Given the description of an element on the screen output the (x, y) to click on. 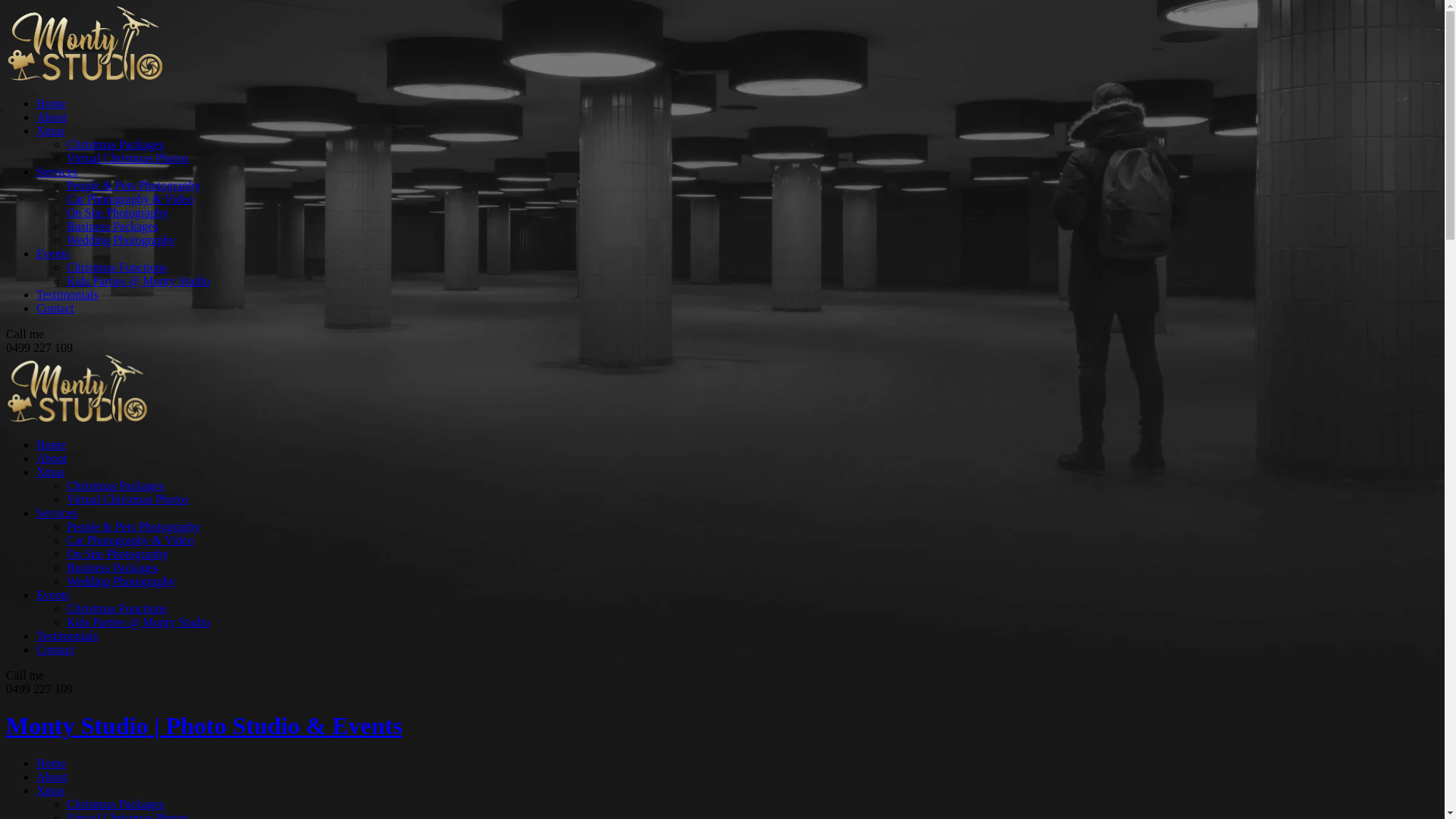
About Element type: text (51, 116)
People & Pets Photography Element type: text (133, 184)
Services Element type: text (56, 171)
Business Packages Element type: text (111, 225)
Testimonials Element type: text (67, 294)
Xmas Element type: text (50, 471)
Virtual Christmas Photos Element type: text (127, 498)
Christmas Functions Element type: text (116, 266)
Contact Element type: text (55, 307)
Events Element type: text (52, 253)
About Element type: text (51, 457)
Contact Element type: text (55, 649)
Christmas Packages Element type: text (114, 485)
Car Photography & Video Element type: text (129, 198)
Business Packages Element type: text (111, 567)
People & Pets Photography Element type: text (133, 526)
Christmas Packages Element type: text (114, 144)
Xmas Element type: text (50, 130)
Car Photography & Video Element type: text (129, 539)
Kids Parties @ Monty Studio Element type: text (138, 280)
Home Element type: text (50, 762)
Testimonials Element type: text (67, 635)
Christmas Packages Element type: text (114, 803)
Xmas Element type: text (50, 790)
Home Element type: text (50, 444)
Virtual Christmas Photos Element type: text (127, 157)
Wedding Photography Element type: text (120, 580)
Wedding Photography Element type: text (120, 239)
Events Element type: text (52, 594)
On Site Photography Element type: text (117, 212)
About Element type: text (51, 776)
Monty Studio | Photo Studio & Events Element type: text (722, 726)
Home Element type: text (50, 103)
Kids Parties @ Monty Studio Element type: text (138, 621)
On Site Photography Element type: text (117, 553)
Christmas Functions Element type: text (116, 608)
Services Element type: text (56, 512)
